Given the description of an element on the screen output the (x, y) to click on. 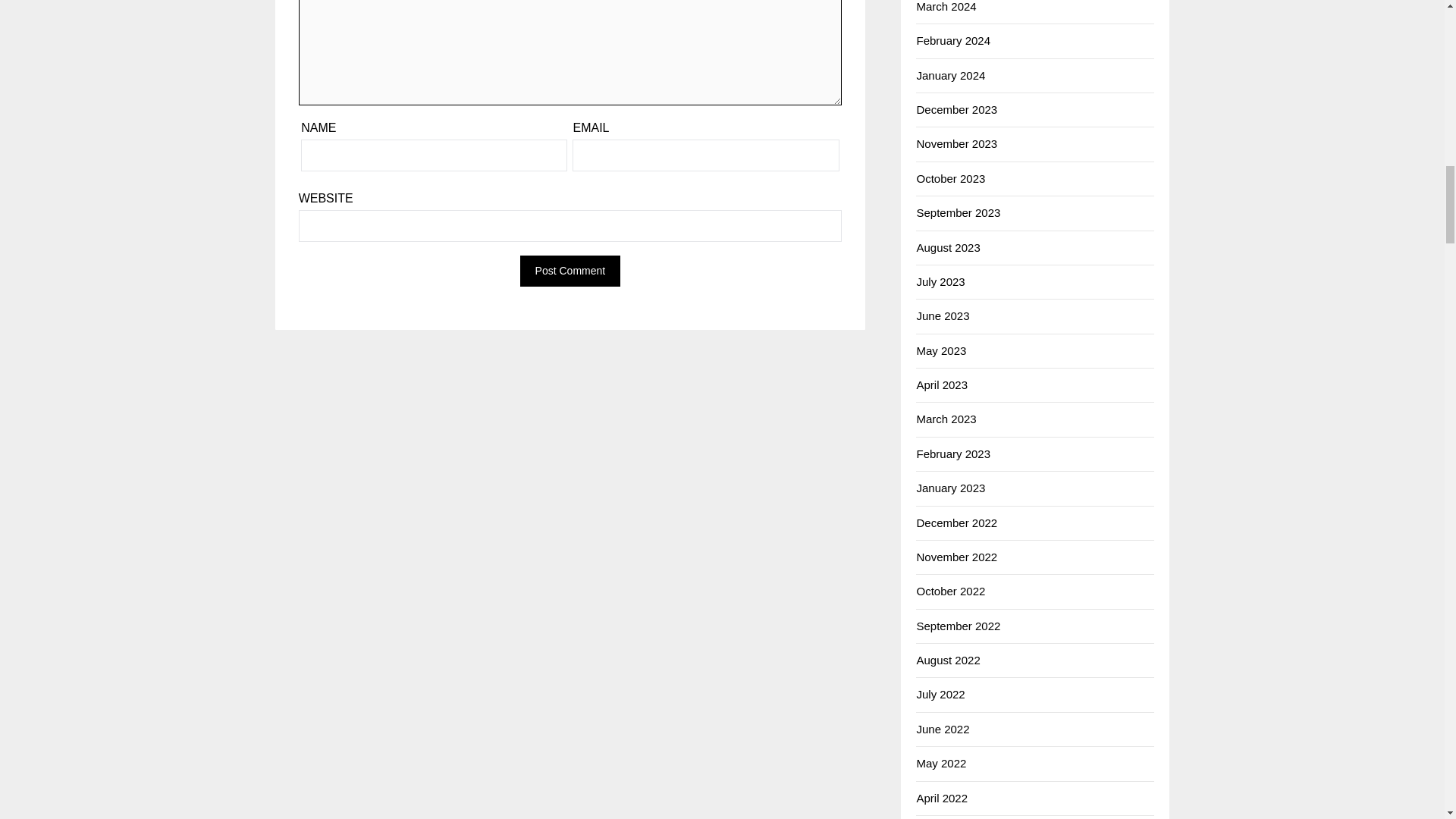
November 2023 (956, 143)
October 2023 (950, 178)
March 2024 (945, 6)
January 2024 (950, 74)
February 2024 (952, 40)
Post Comment (570, 270)
Post Comment (570, 270)
December 2023 (956, 109)
